Given the description of an element on the screen output the (x, y) to click on. 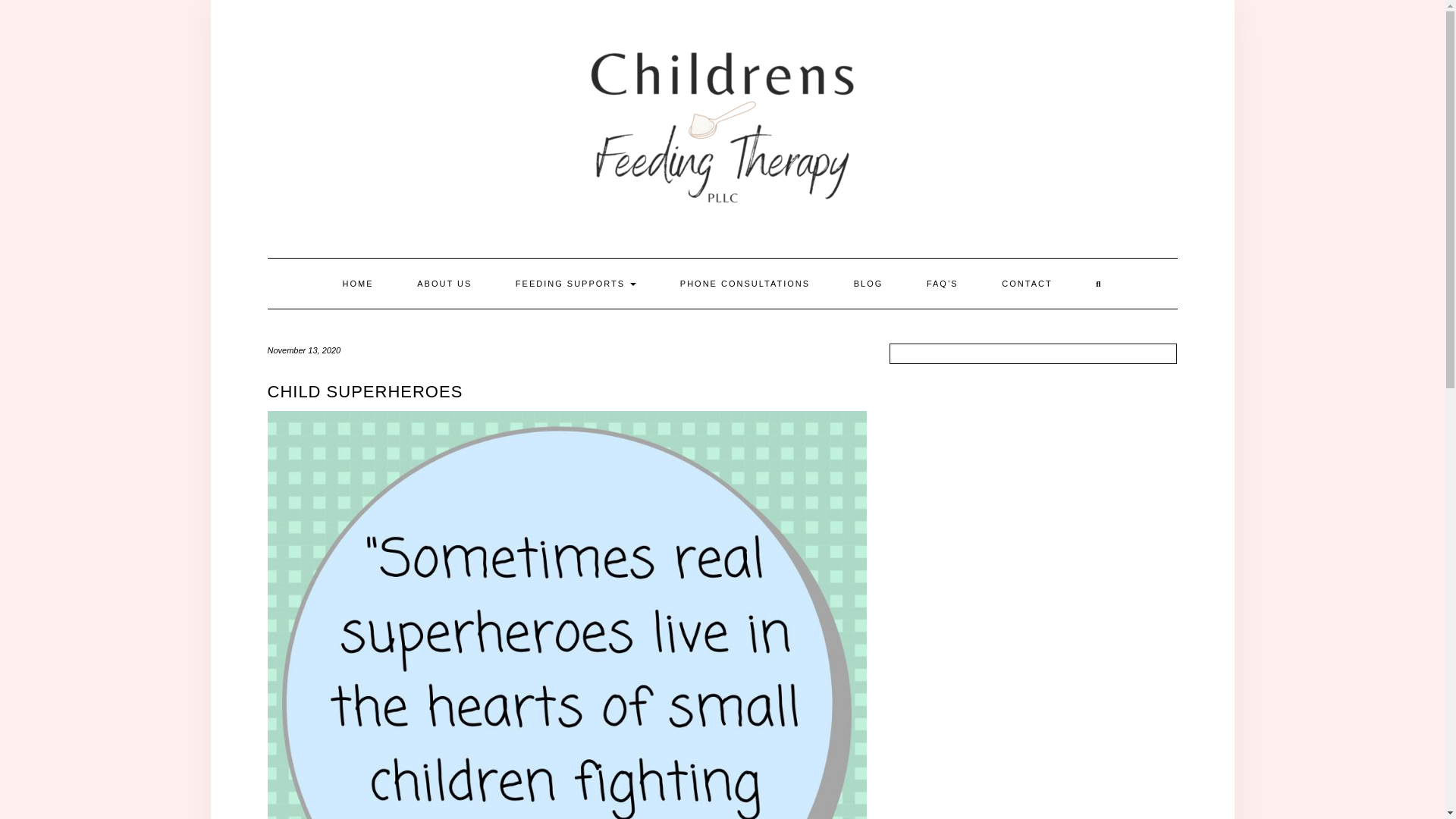
CONTACT (1026, 283)
BLOG (868, 283)
ABOUT US (444, 283)
PHONE CONSULTATIONS (744, 283)
FEEDING SUPPORTS (575, 283)
HOME (357, 283)
